Given the description of an element on the screen output the (x, y) to click on. 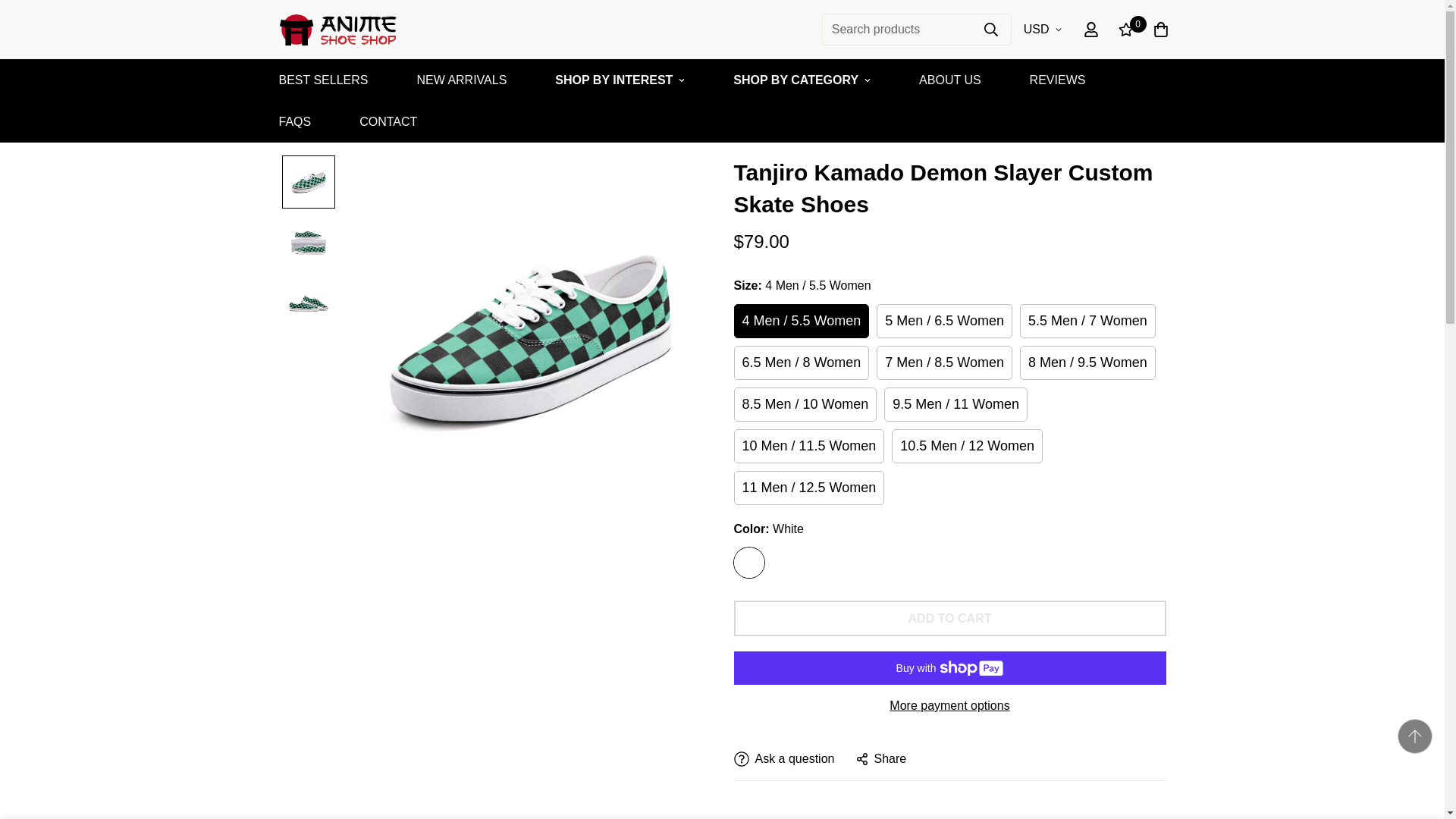
SHOP BY INTEREST (620, 79)
BEST SELLERS (323, 79)
Shoe Shop (337, 29)
NEW ARRIVALS (461, 79)
Back to the home page (293, 122)
